Given the description of an element on the screen output the (x, y) to click on. 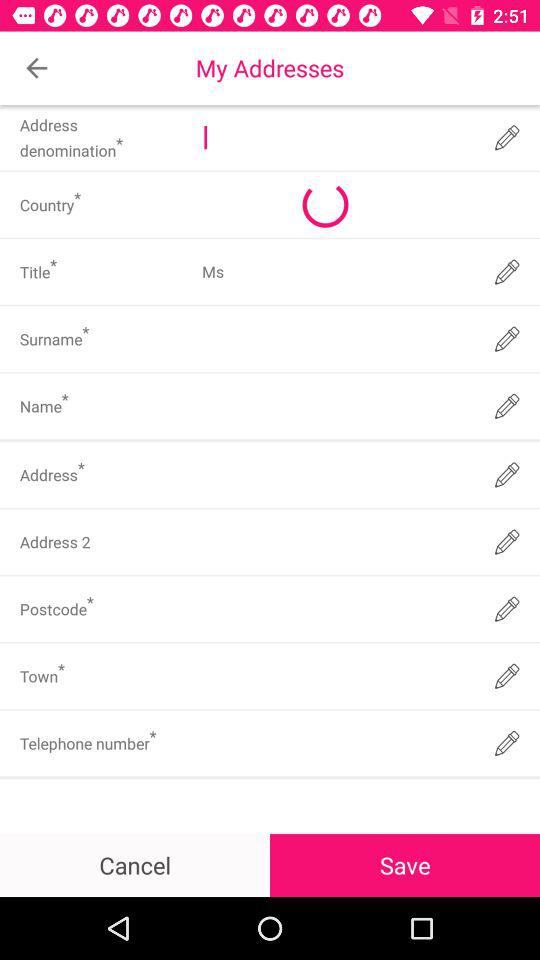
enter address 2 (335, 541)
